Given the description of an element on the screen output the (x, y) to click on. 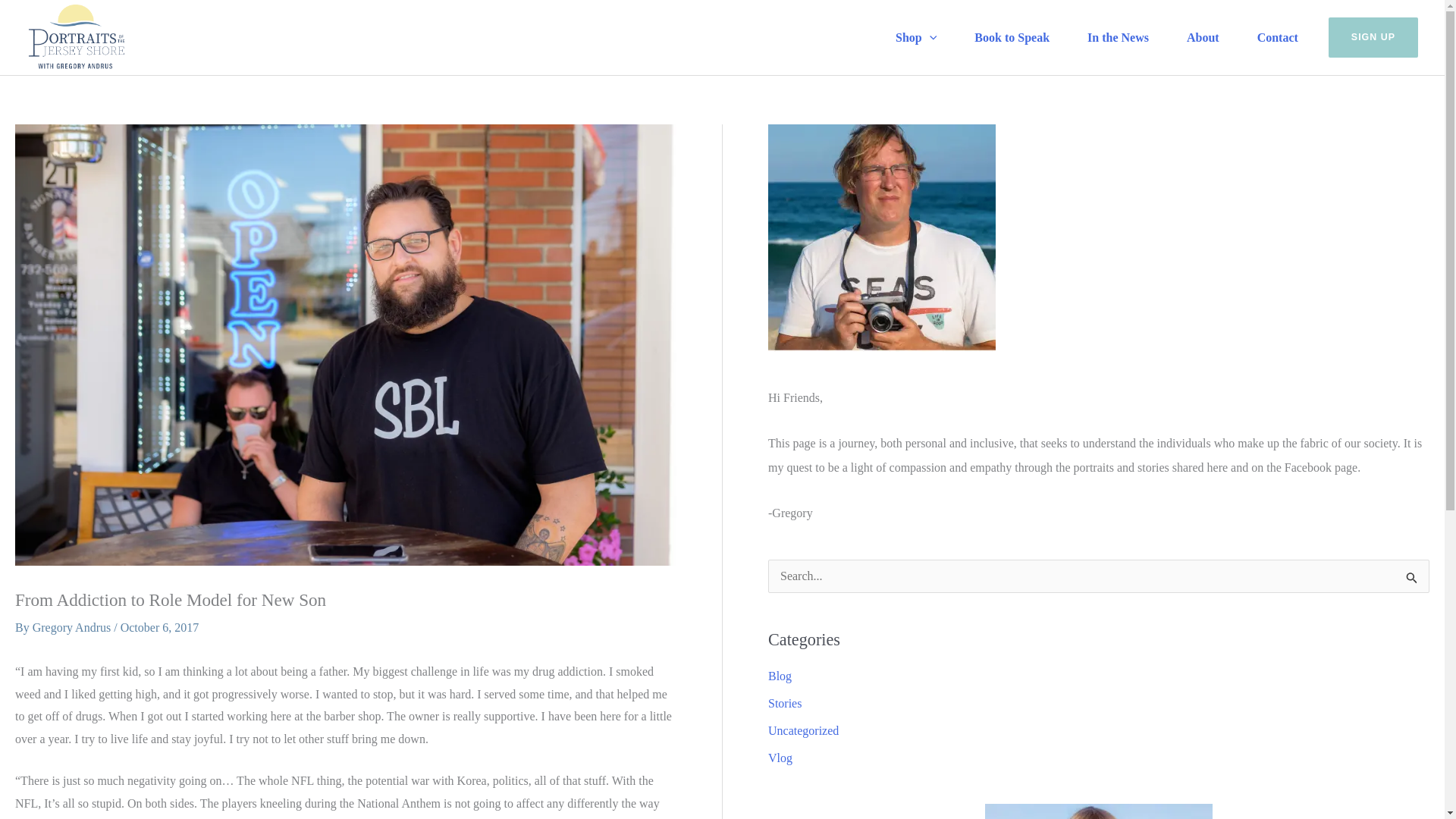
SIGN UP (1372, 37)
About (1198, 37)
Shop (912, 37)
Book to Speak (1008, 37)
View all posts by Gregory Andrus (73, 626)
Contact (1273, 37)
In the News (1113, 37)
